Given the description of an element on the screen output the (x, y) to click on. 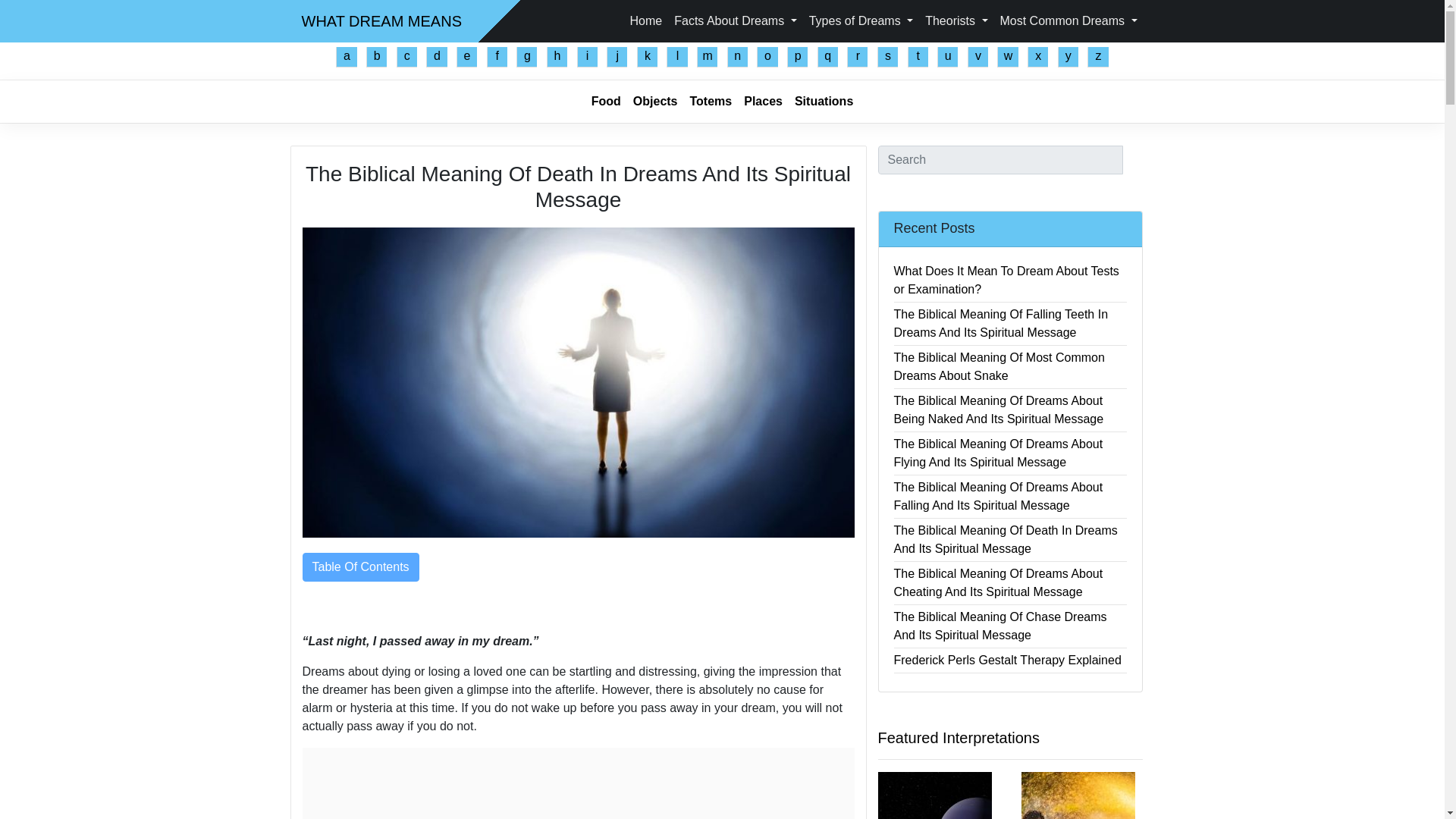
b (376, 56)
WHAT DREAM MEANS (382, 20)
Facts About Dreams (735, 20)
a (346, 56)
Types of Dreams (860, 20)
c (406, 56)
Most Common Dreams (1067, 20)
Home (646, 20)
e (467, 56)
d (436, 56)
Theorists (955, 20)
